Given the description of an element on the screen output the (x, y) to click on. 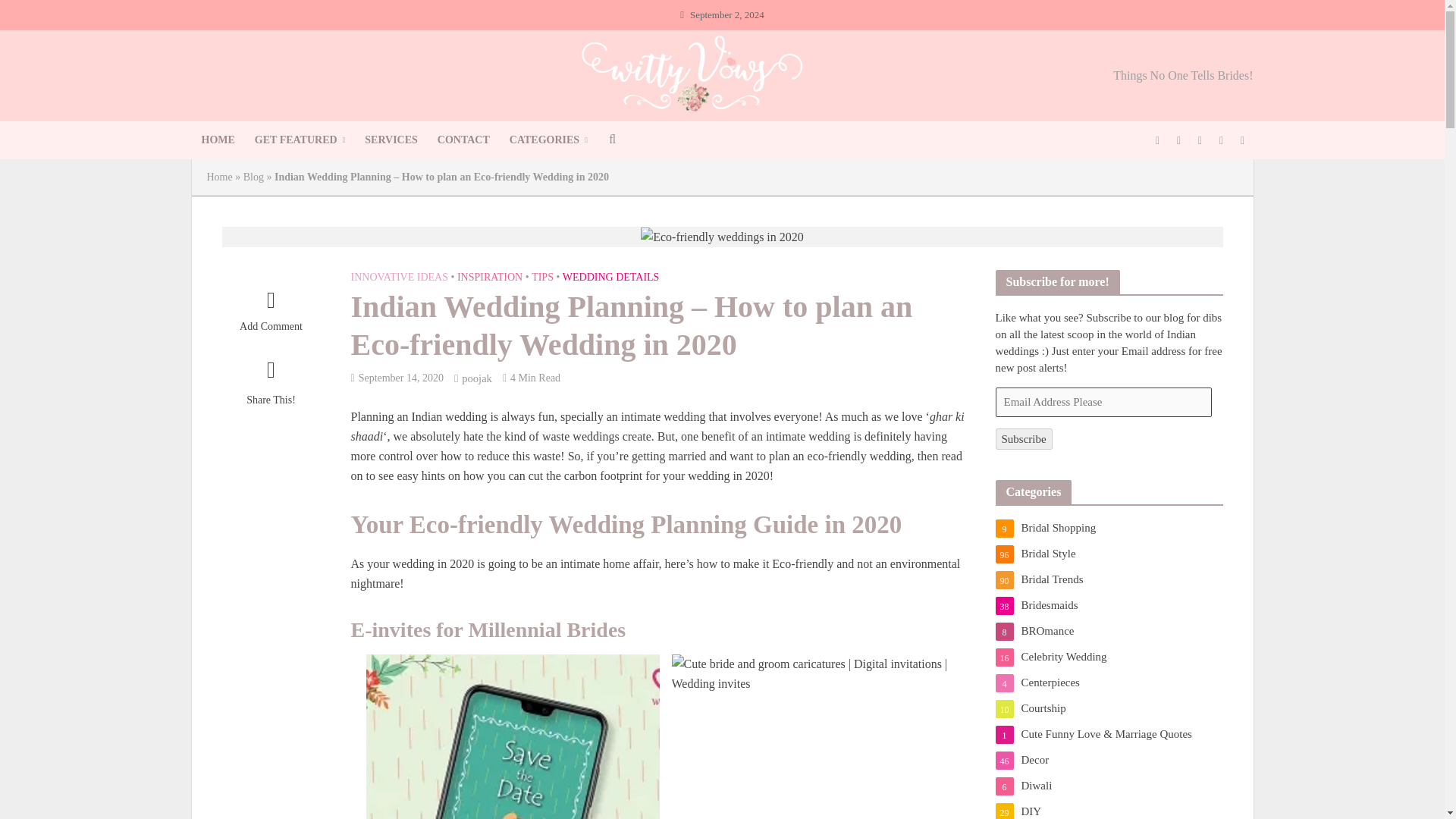
CATEGORIES (547, 139)
HOME (217, 139)
SERVICES (391, 139)
GET FEATURED (299, 139)
